Given the description of an element on the screen output the (x, y) to click on. 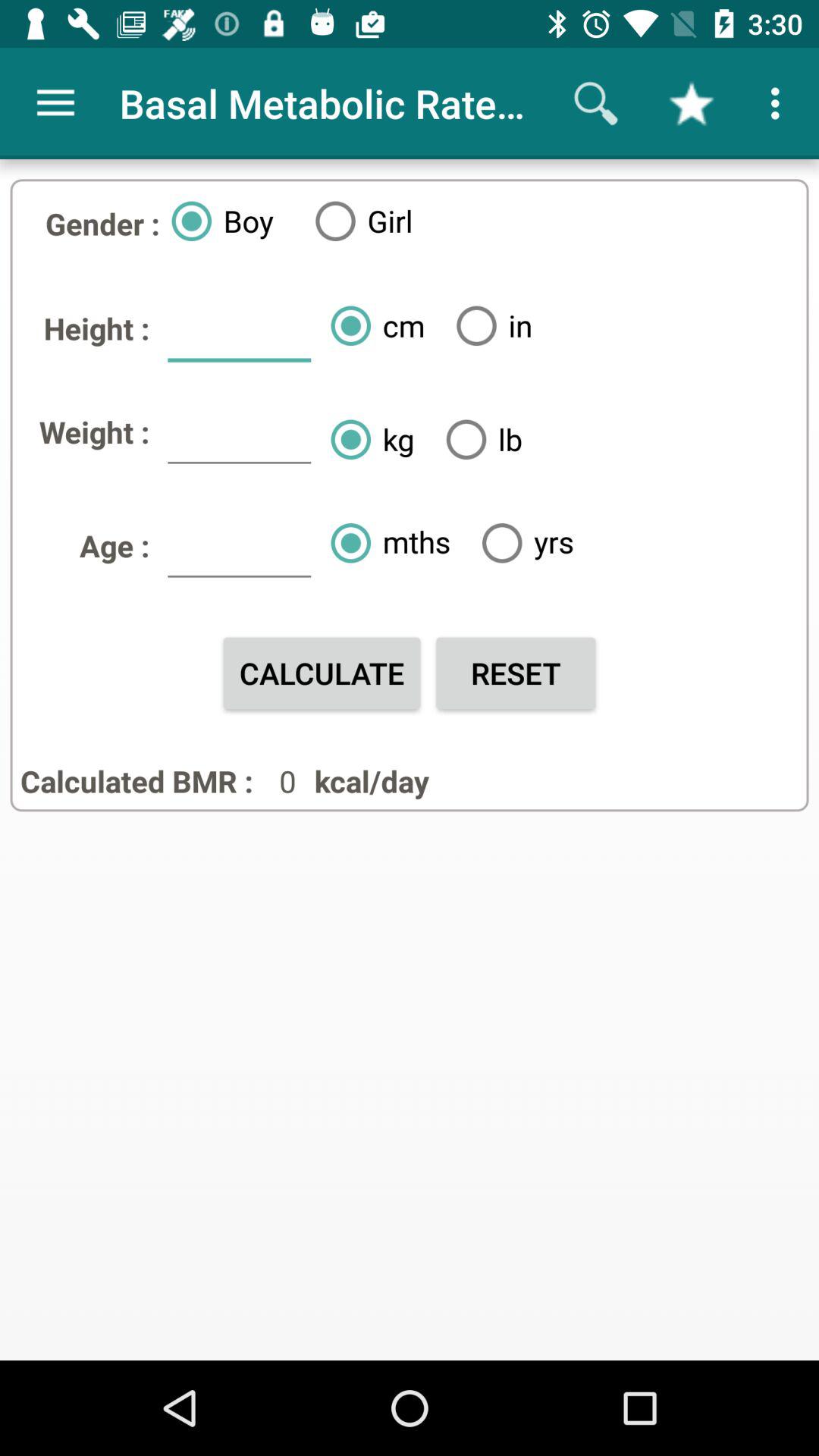
press the item to the left of the basal metabolic rate app (55, 103)
